Given the description of an element on the screen output the (x, y) to click on. 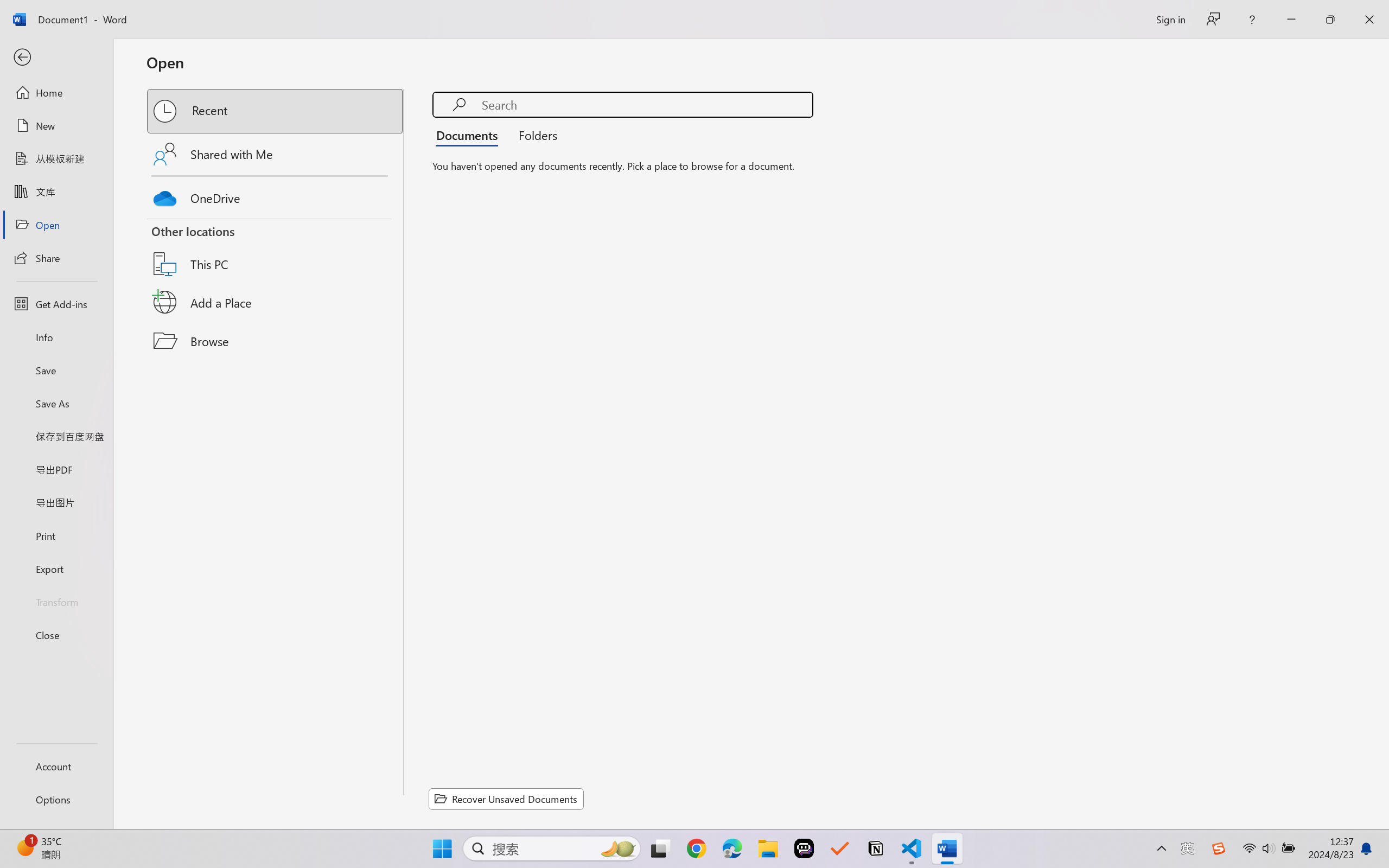
Account (56, 765)
Folders (534, 134)
OneDrive (275, 195)
Recover Unsaved Documents (506, 798)
This PC (275, 249)
New (56, 125)
Documents (469, 134)
Recent (275, 110)
